Given the description of an element on the screen output the (x, y) to click on. 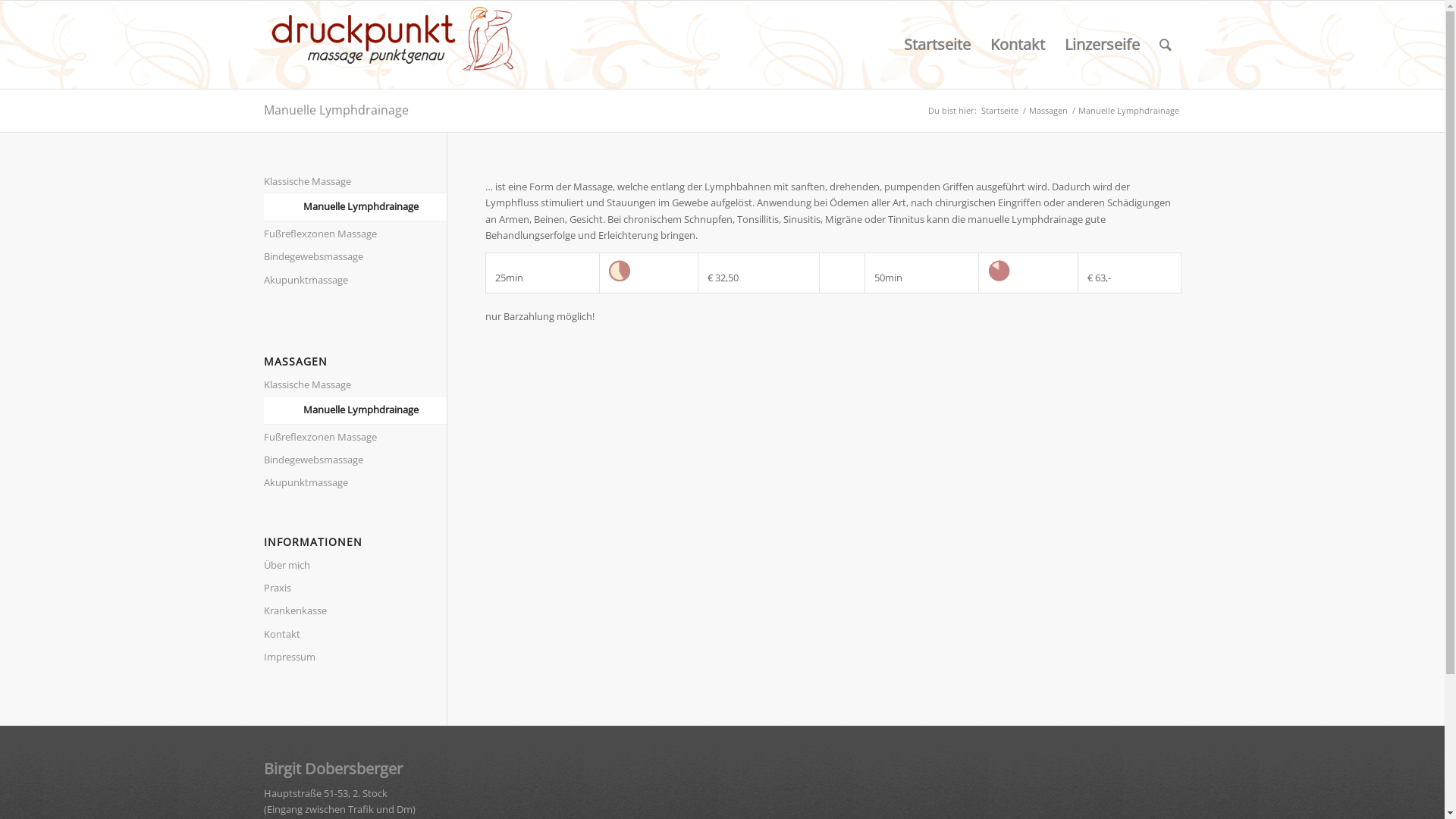
Kontakt Element type: text (335, 634)
Akupunktmassage Element type: text (335, 482)
25min Element type: hover (619, 270)
Impressum Element type: text (335, 657)
Bindegewebsmassage Element type: text (335, 459)
Manuelle Lymphdrainage Element type: text (335, 109)
Klassische Massage Element type: text (335, 181)
Linzerseife Element type: text (1101, 44)
Klassische Massage Element type: text (335, 384)
Manuelle Lymphdrainage Element type: text (375, 206)
Startseite Element type: text (998, 110)
Kontakt Element type: text (1016, 44)
Massagen Element type: text (1048, 110)
Akupunktmassage Element type: text (335, 280)
Krankenkasse Element type: text (335, 610)
Logo Element type: hover (391, 44)
50min Element type: hover (999, 270)
Praxis Element type: text (335, 588)
Bindegewebsmassage Element type: text (335, 256)
Startseite Element type: text (936, 44)
Manuelle Lymphdrainage Element type: text (375, 410)
